Given the description of an element on the screen output the (x, y) to click on. 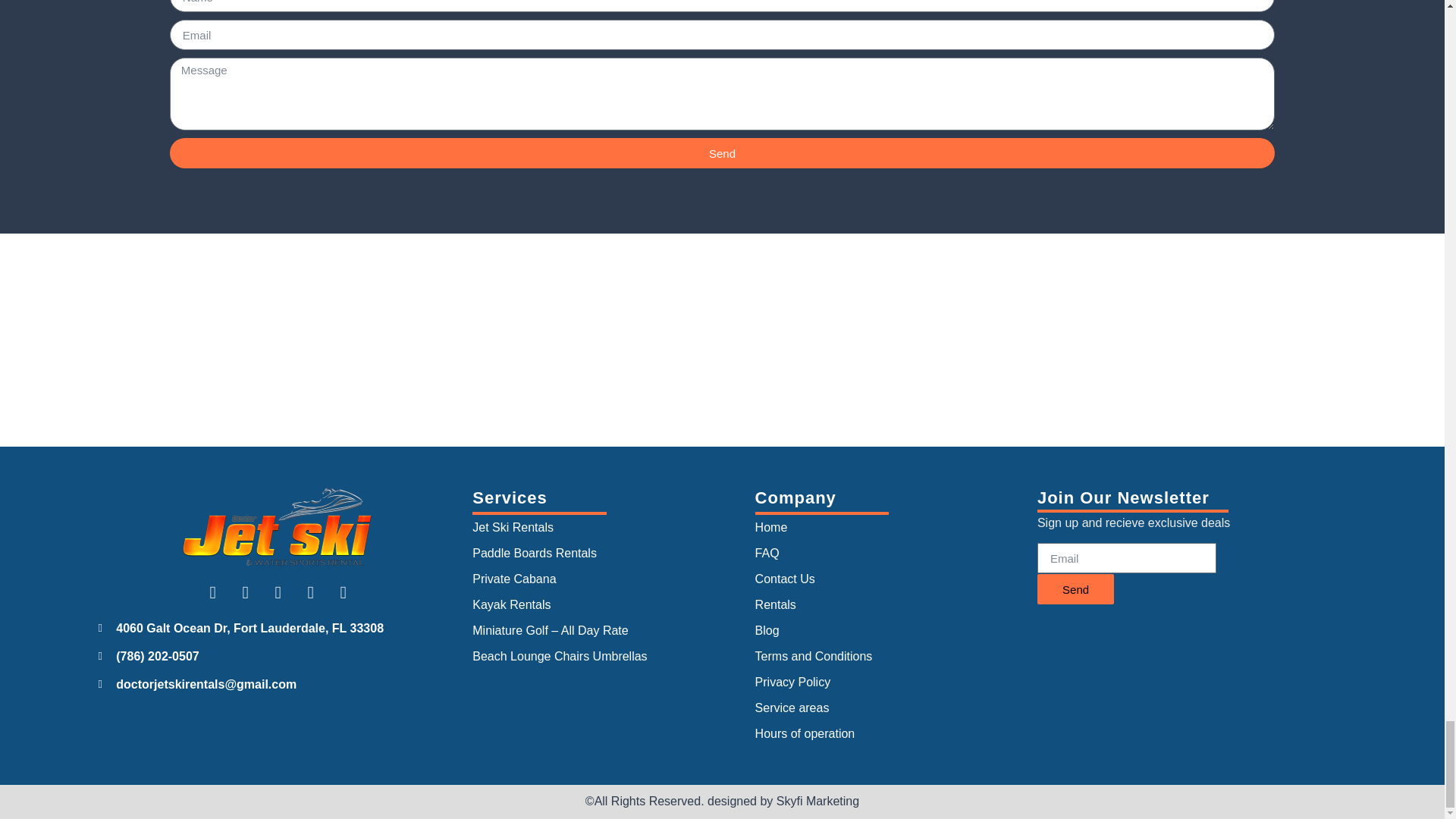
Send (722, 153)
